Given the description of an element on the screen output the (x, y) to click on. 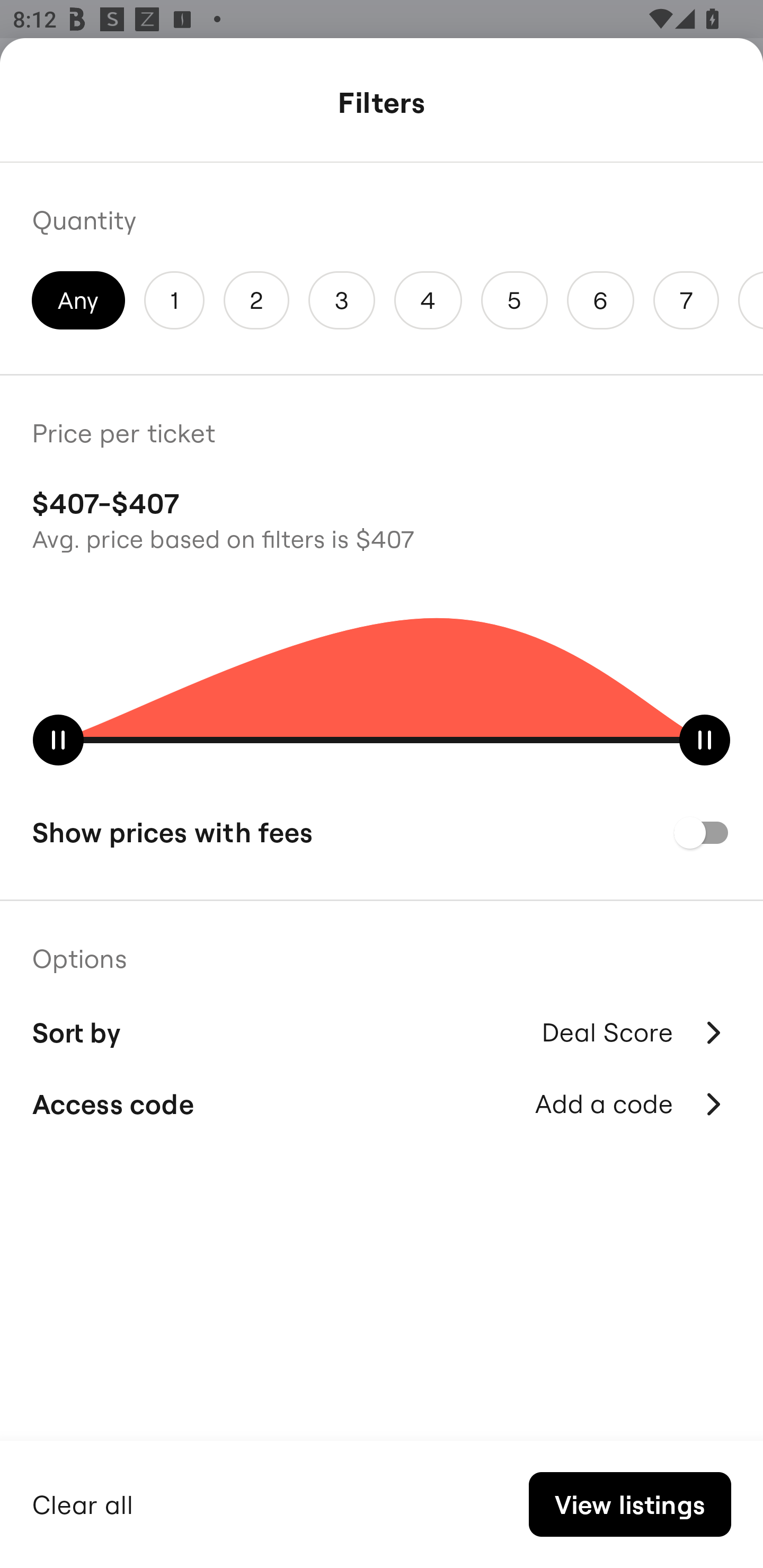
Back Hadestown Thu, Mar 7, 7 PM Info (381, 104)
Any (78, 300)
1 (173, 300)
2 (256, 300)
3 (341, 300)
4 (427, 300)
5 (514, 300)
6 (601, 300)
7 (685, 300)
$407-$407 Avg. price based on filters is $407 (381, 518)
Show prices with fees (381, 832)
Sort by Deal Score (381, 1030)
Access code Add a code (381, 1104)
Clear all (83, 1502)
View listings (629, 1504)
